Given the description of an element on the screen output the (x, y) to click on. 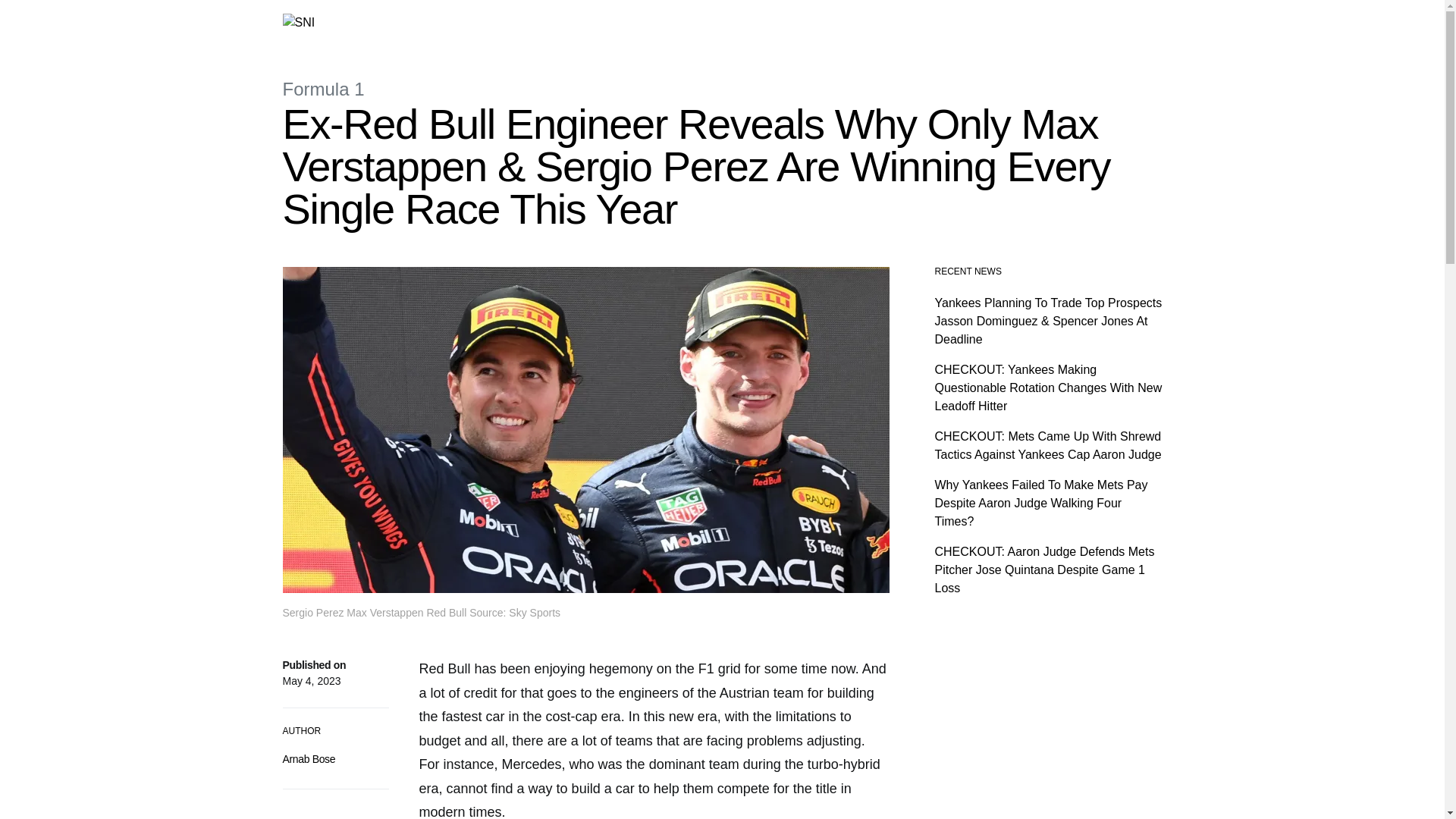
Tennis (623, 22)
NBA (443, 22)
Yankees (523, 22)
Formula 1 (323, 88)
MLB (478, 22)
Arnab Bose (308, 758)
Football (577, 22)
Formula 1 (397, 22)
